Given the description of an element on the screen output the (x, y) to click on. 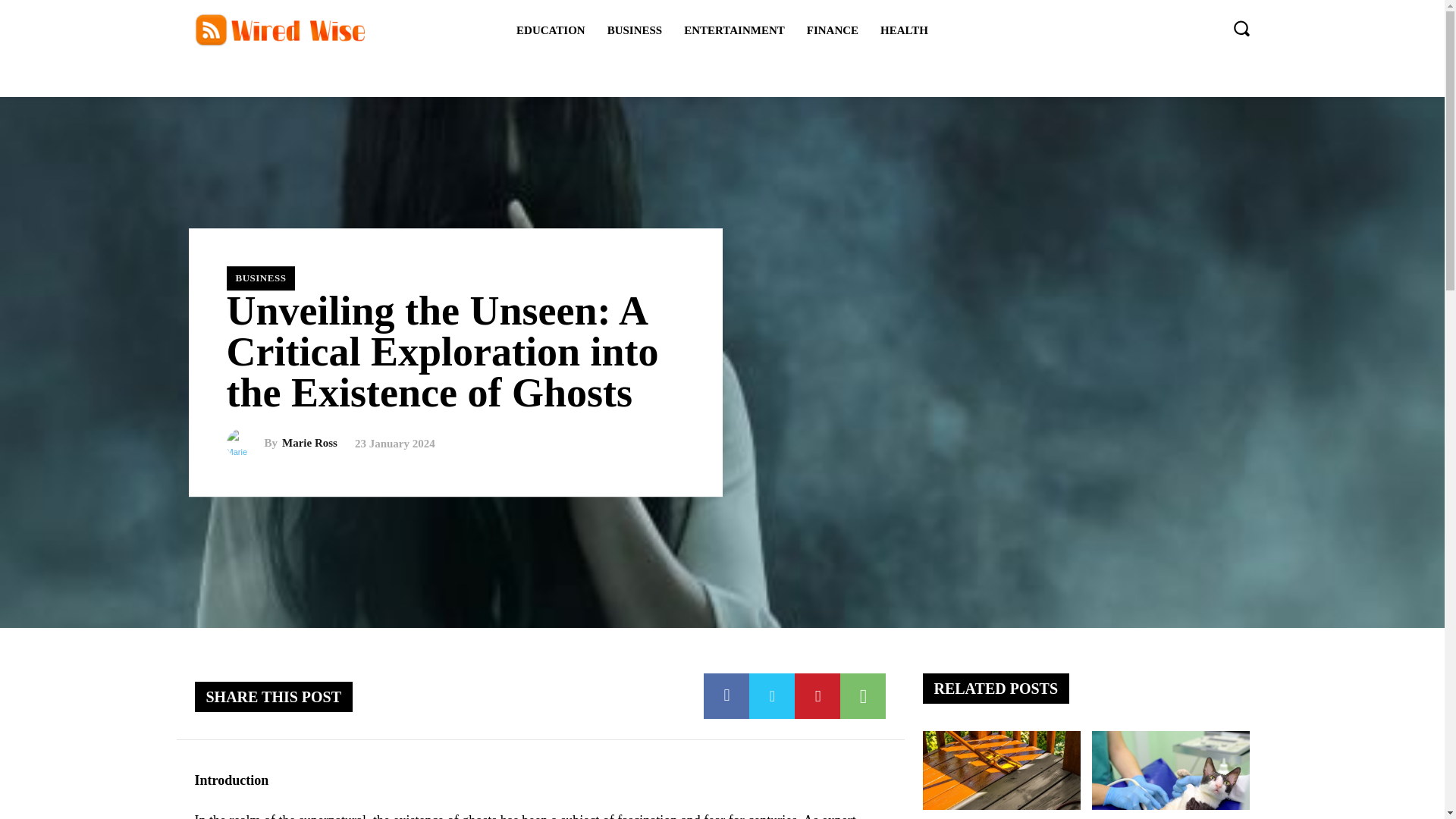
ENTERTAINMENT (734, 29)
Twitter (771, 696)
FINANCE (832, 29)
Marie Ross (309, 442)
EDUCATION (550, 29)
Pinterest (817, 696)
Facebook (726, 696)
WhatsApp (862, 696)
BUSINESS (634, 29)
